Given the description of an element on the screen output the (x, y) to click on. 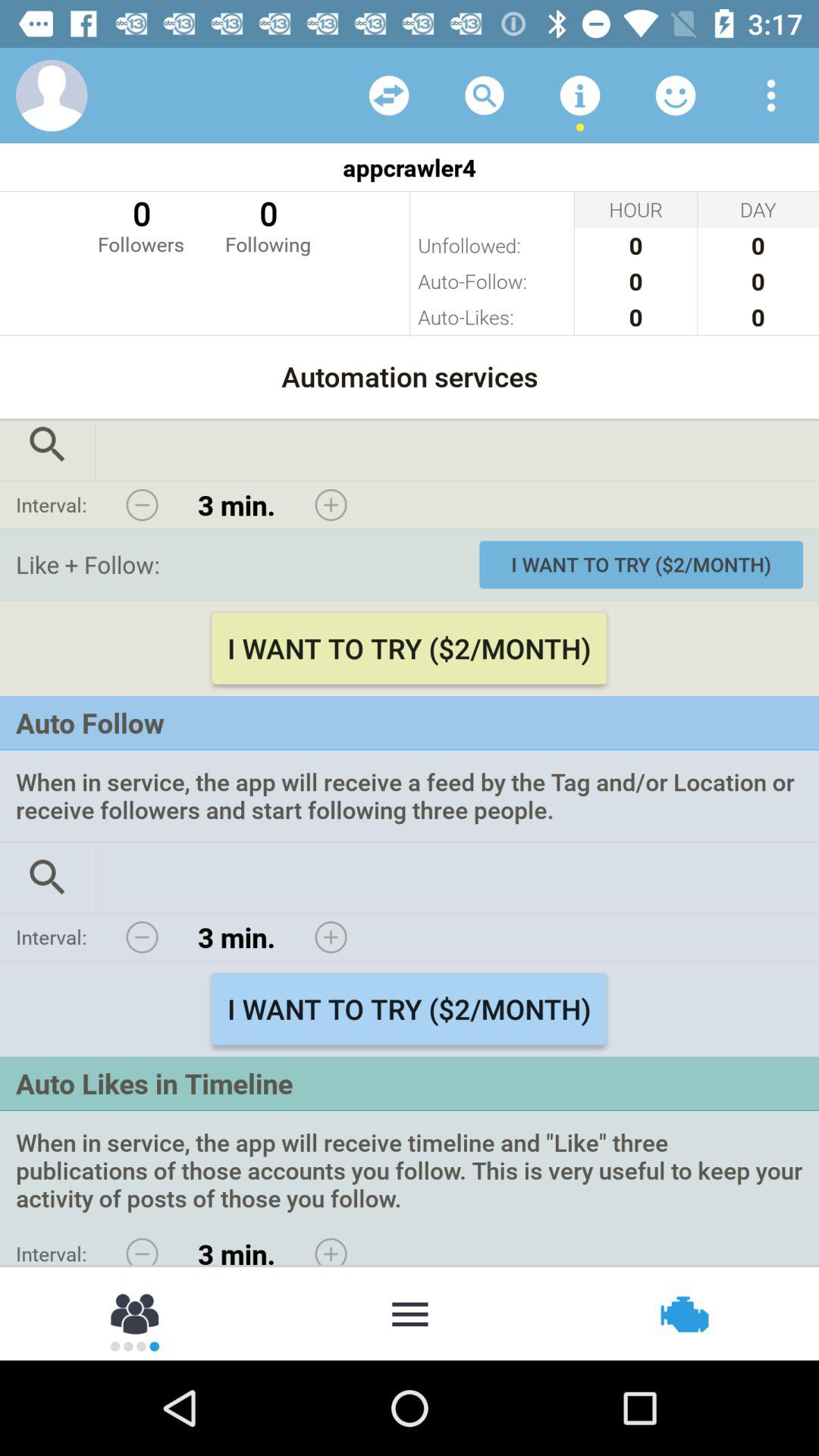
reduce time interval (142, 504)
